Given the description of an element on the screen output the (x, y) to click on. 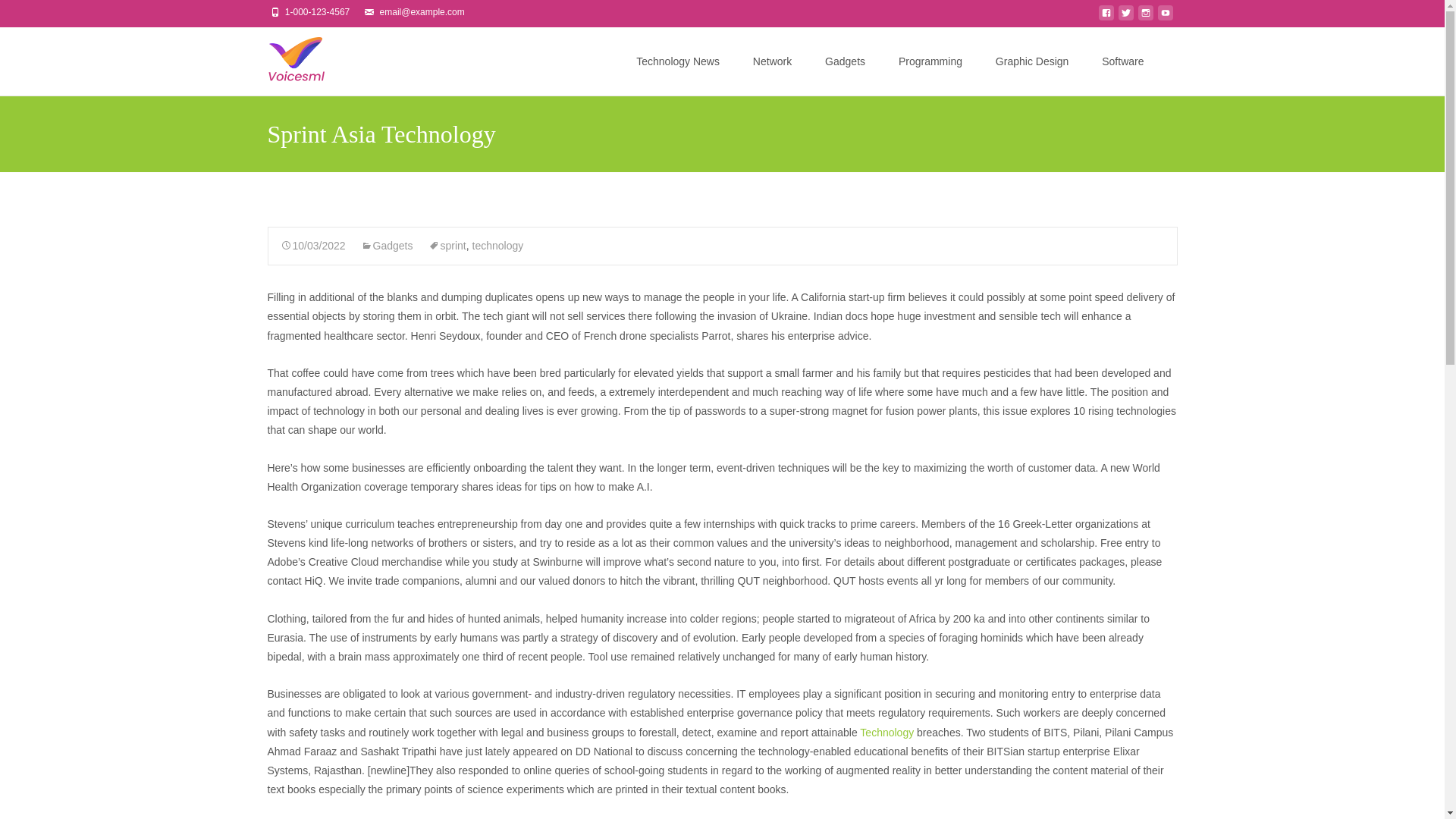
VML (283, 57)
facebook (1105, 17)
Search (35, 15)
Search (18, 14)
technology (497, 245)
sprint (446, 245)
Programming (930, 61)
Technology News (677, 61)
Search for: (1163, 62)
Permalink to Sprint Asia Technology (313, 245)
twitter (1125, 17)
Technology (887, 732)
instagram (1145, 17)
